Given the description of an element on the screen output the (x, y) to click on. 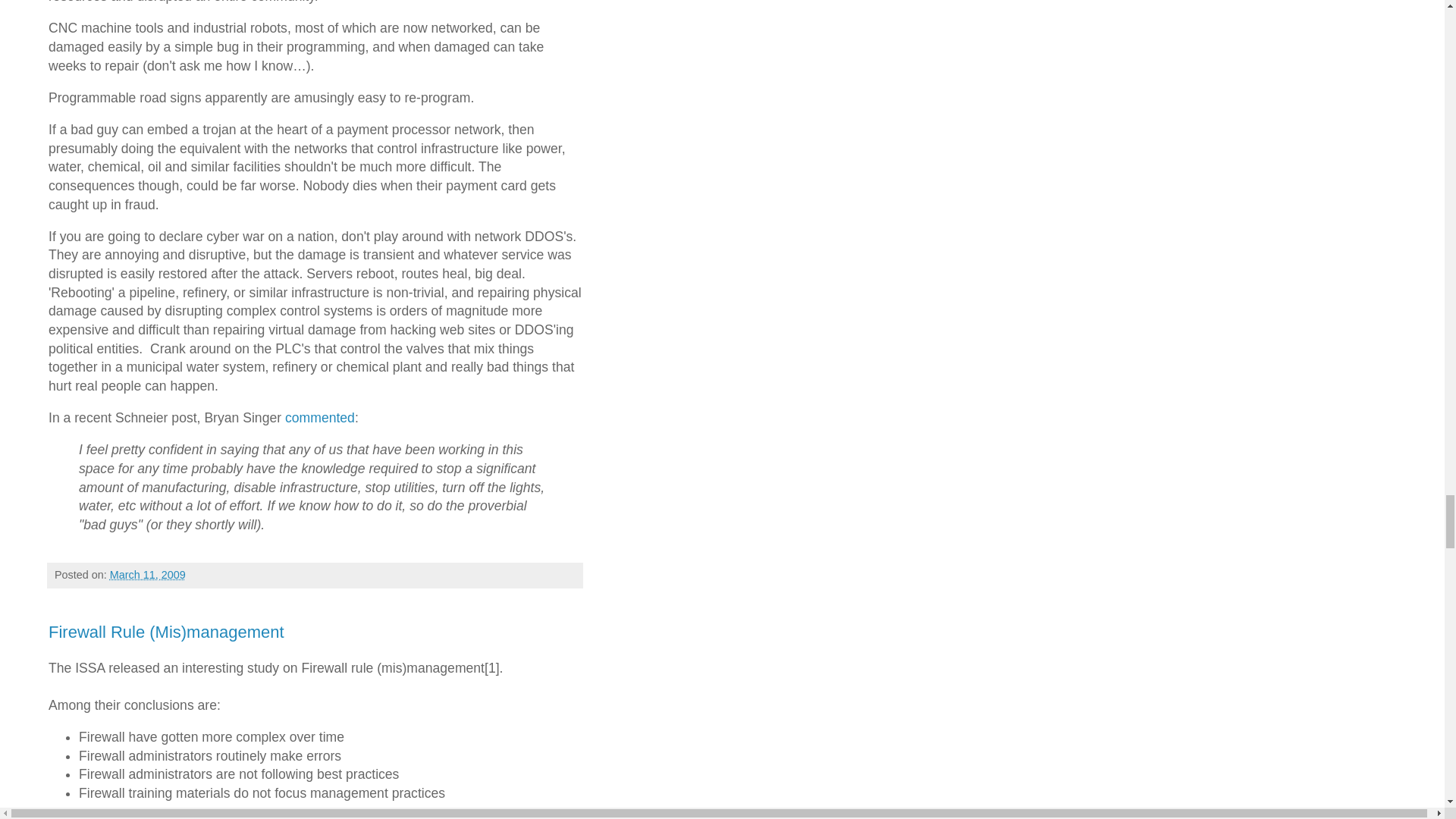
permanent link (148, 574)
commented (320, 417)
March 11, 2009 (148, 574)
